Given the description of an element on the screen output the (x, y) to click on. 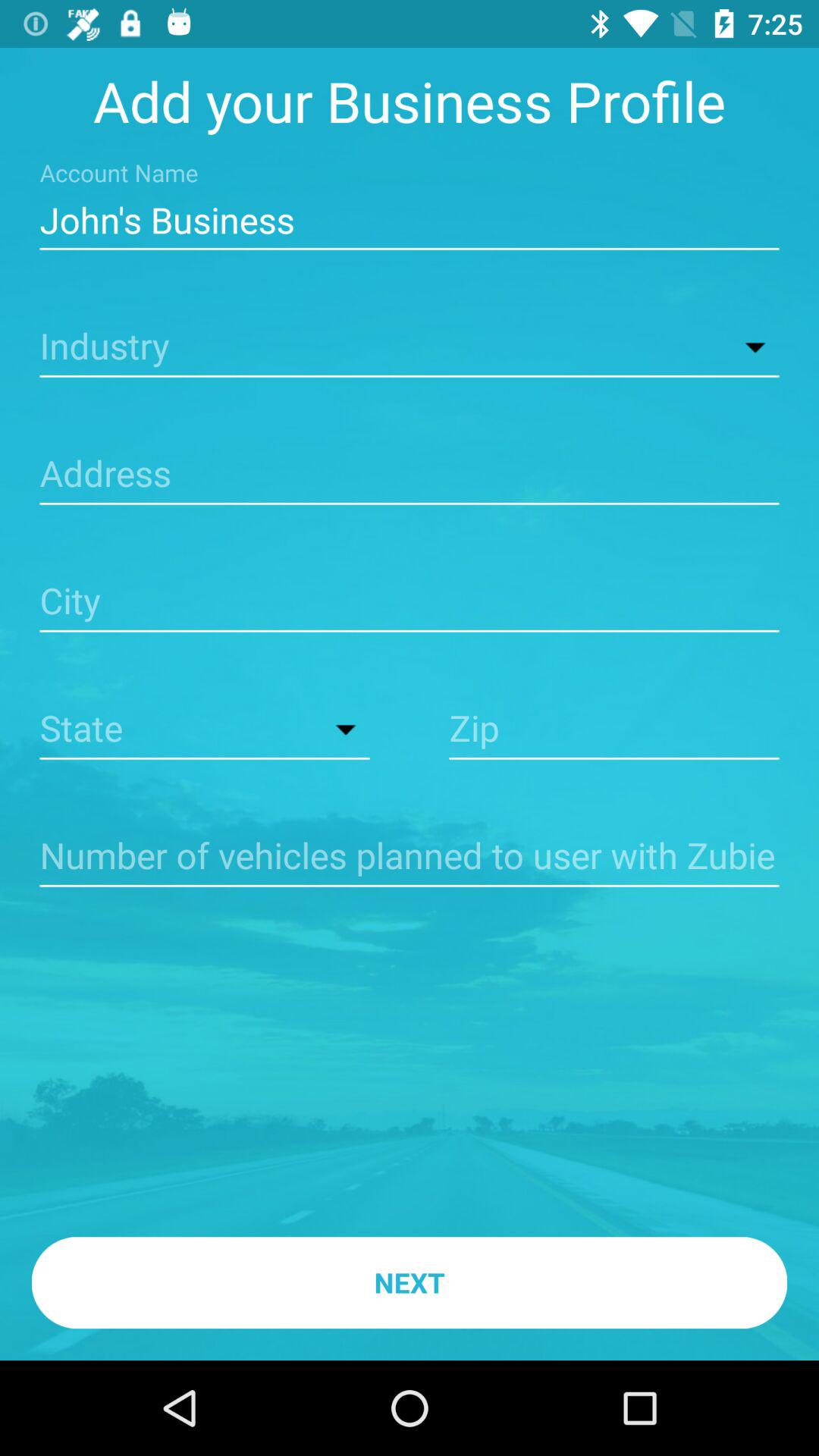
list box (204, 730)
